Given the description of an element on the screen output the (x, y) to click on. 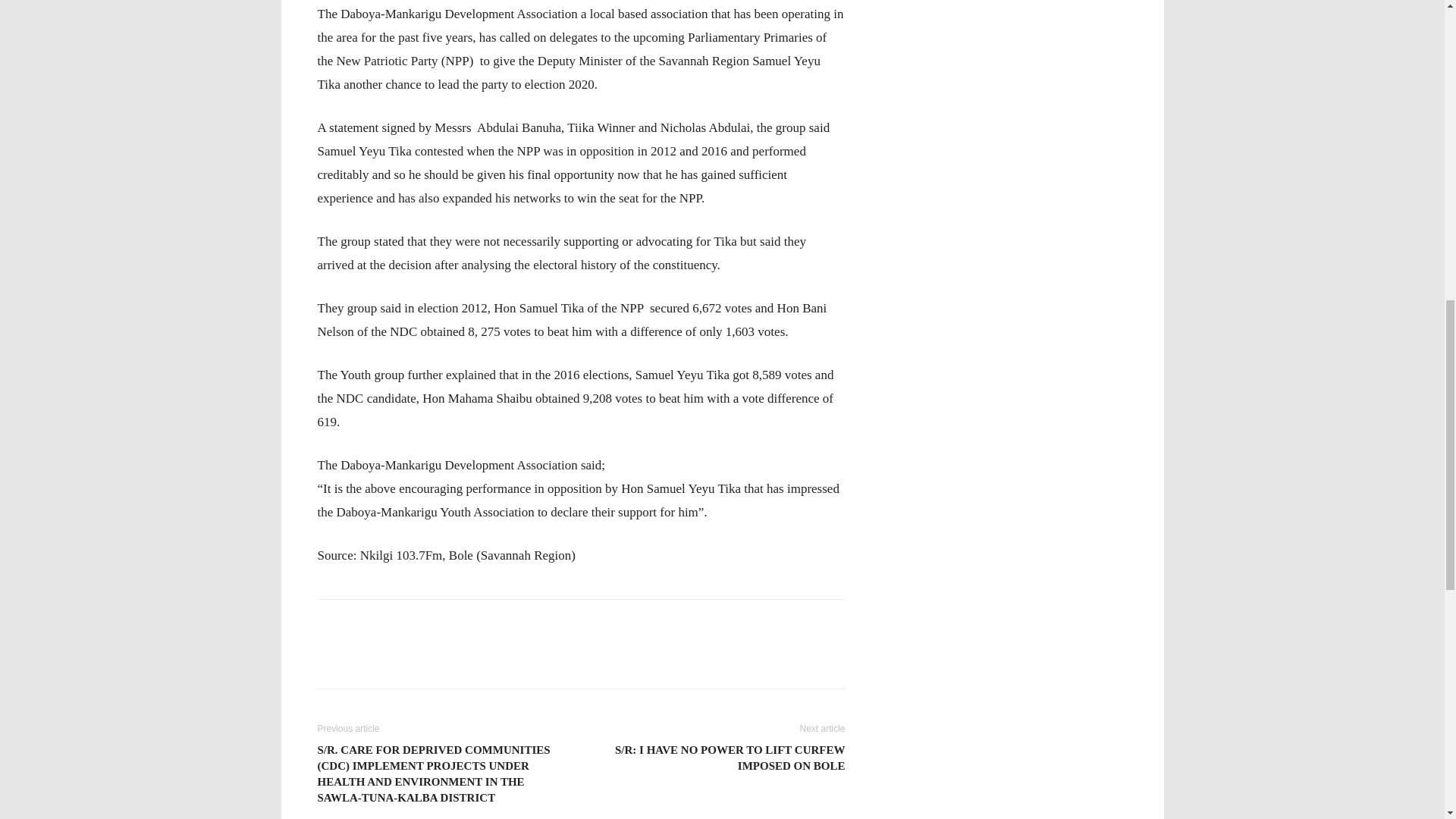
bottomFacebookLike (430, 623)
